Given the description of an element on the screen output the (x, y) to click on. 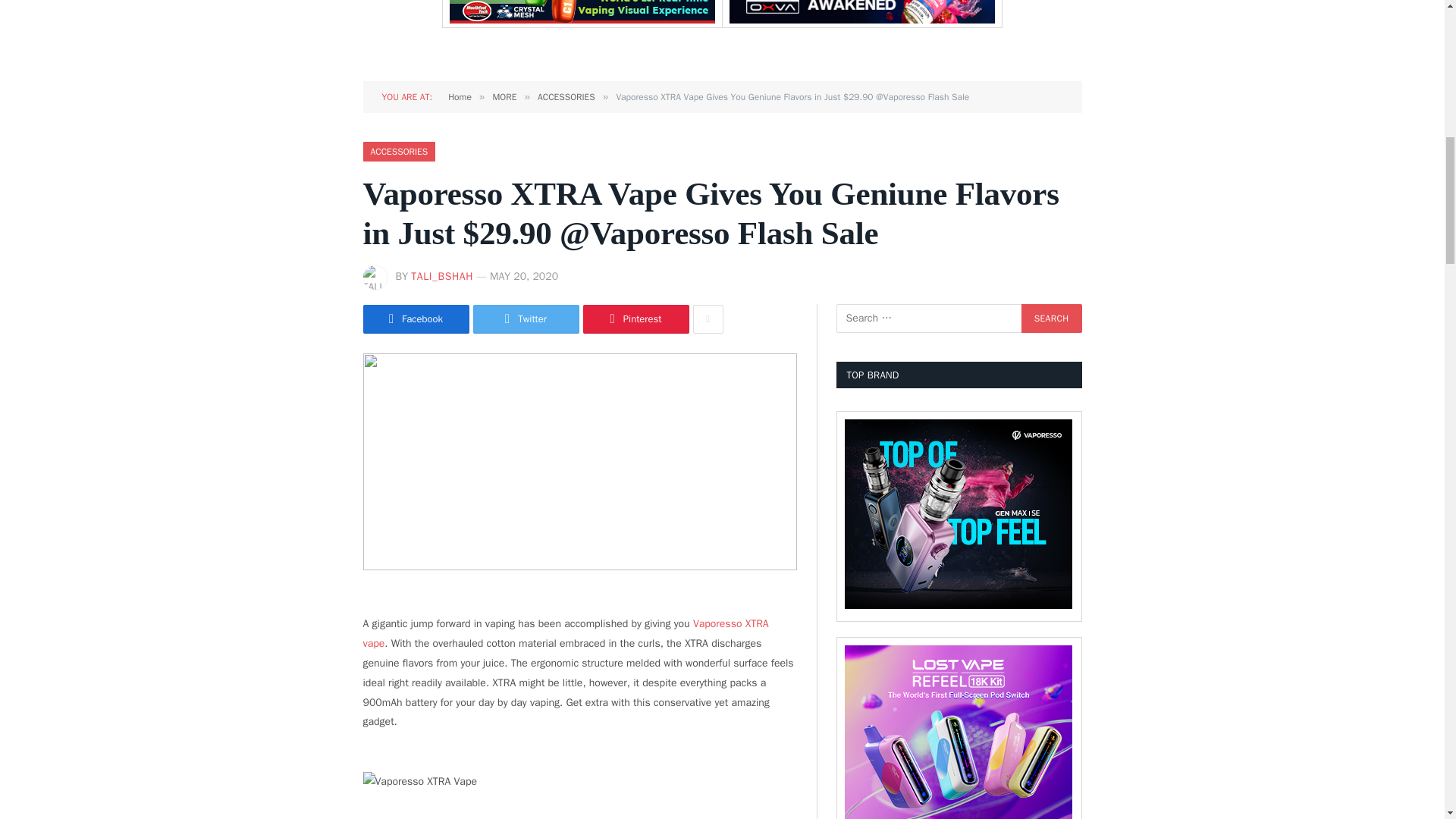
Share on Facebook (415, 318)
Share on Twitter (526, 318)
Search (1051, 317)
Search (1051, 317)
Share on Pinterest (635, 318)
Show More Social Sharing (708, 318)
